Given the description of an element on the screen output the (x, y) to click on. 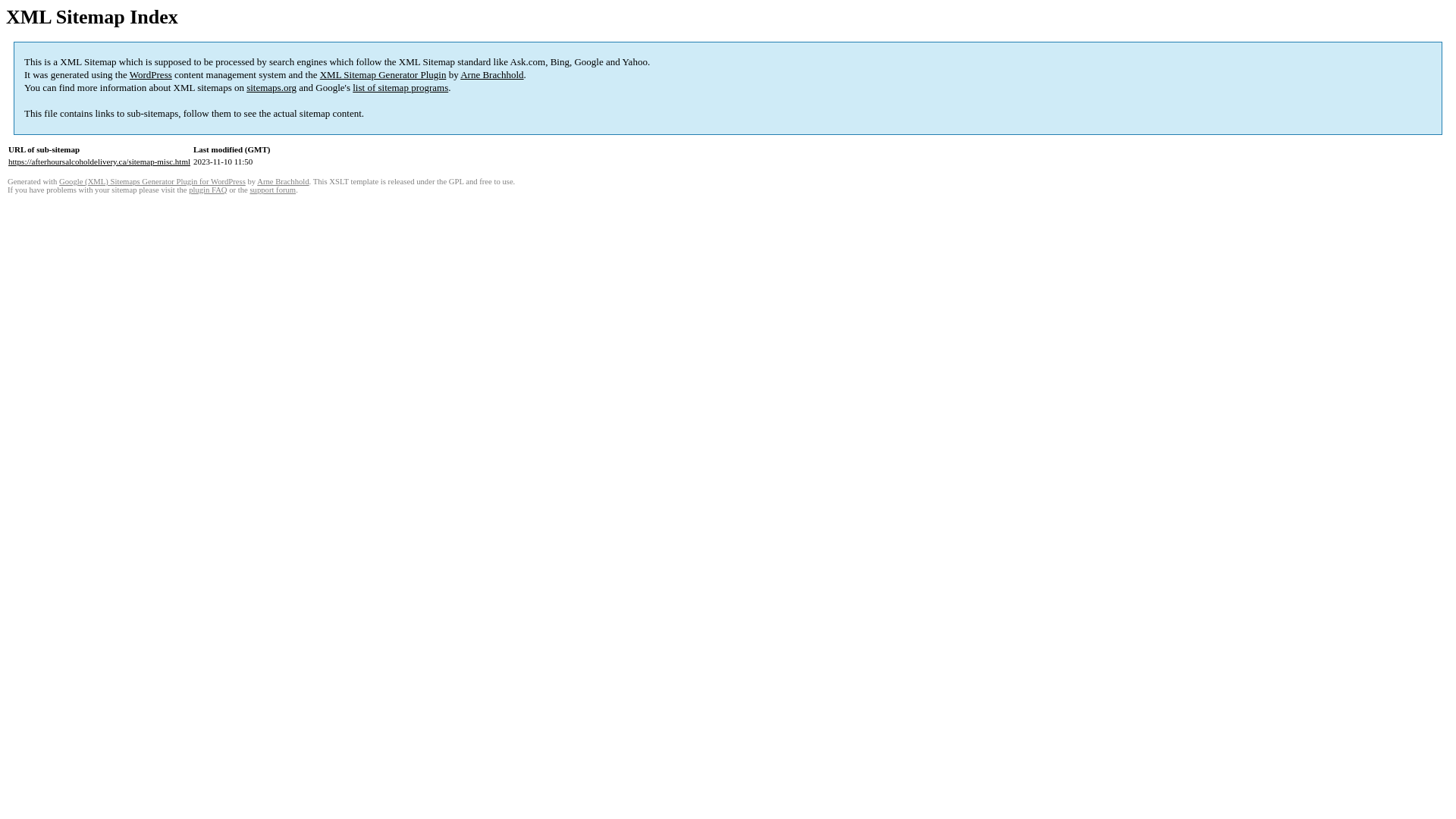
support forum Element type: text (272, 189)
https://afterhoursalcoholdelivery.ca/sitemap-misc.html Element type: text (99, 161)
list of sitemap programs Element type: text (400, 87)
Google (XML) Sitemaps Generator Plugin for WordPress Element type: text (152, 181)
sitemaps.org Element type: text (271, 87)
Arne Brachhold Element type: text (491, 74)
WordPress Element type: text (150, 74)
XML Sitemap Generator Plugin Element type: text (383, 74)
plugin FAQ Element type: text (207, 189)
Arne Brachhold Element type: text (282, 181)
